Given the description of an element on the screen output the (x, y) to click on. 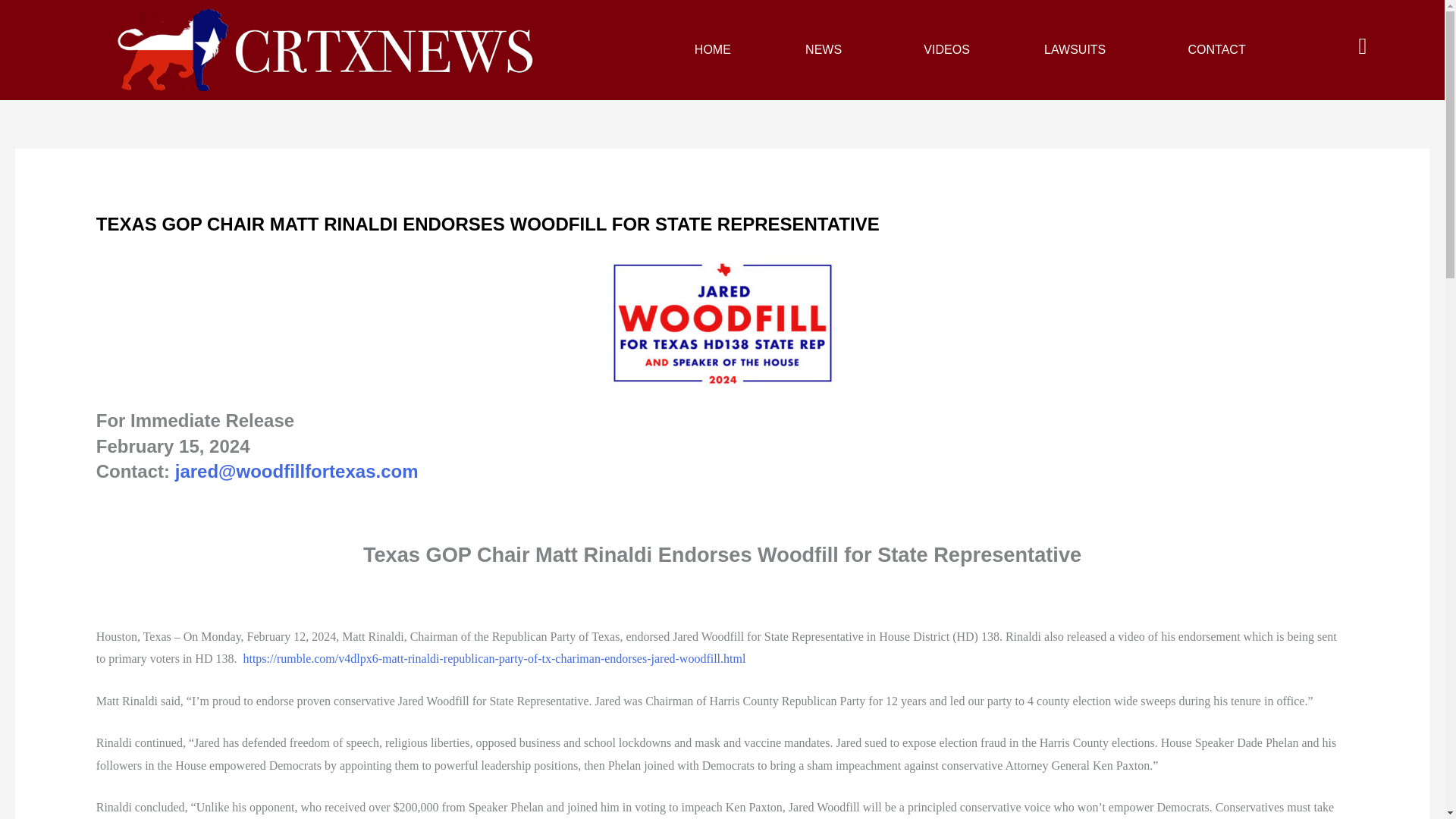
LAWSUITS (1078, 49)
VIDEOS (946, 49)
NEWS (827, 49)
HOME (713, 49)
CONTACT (1216, 49)
